Given the description of an element on the screen output the (x, y) to click on. 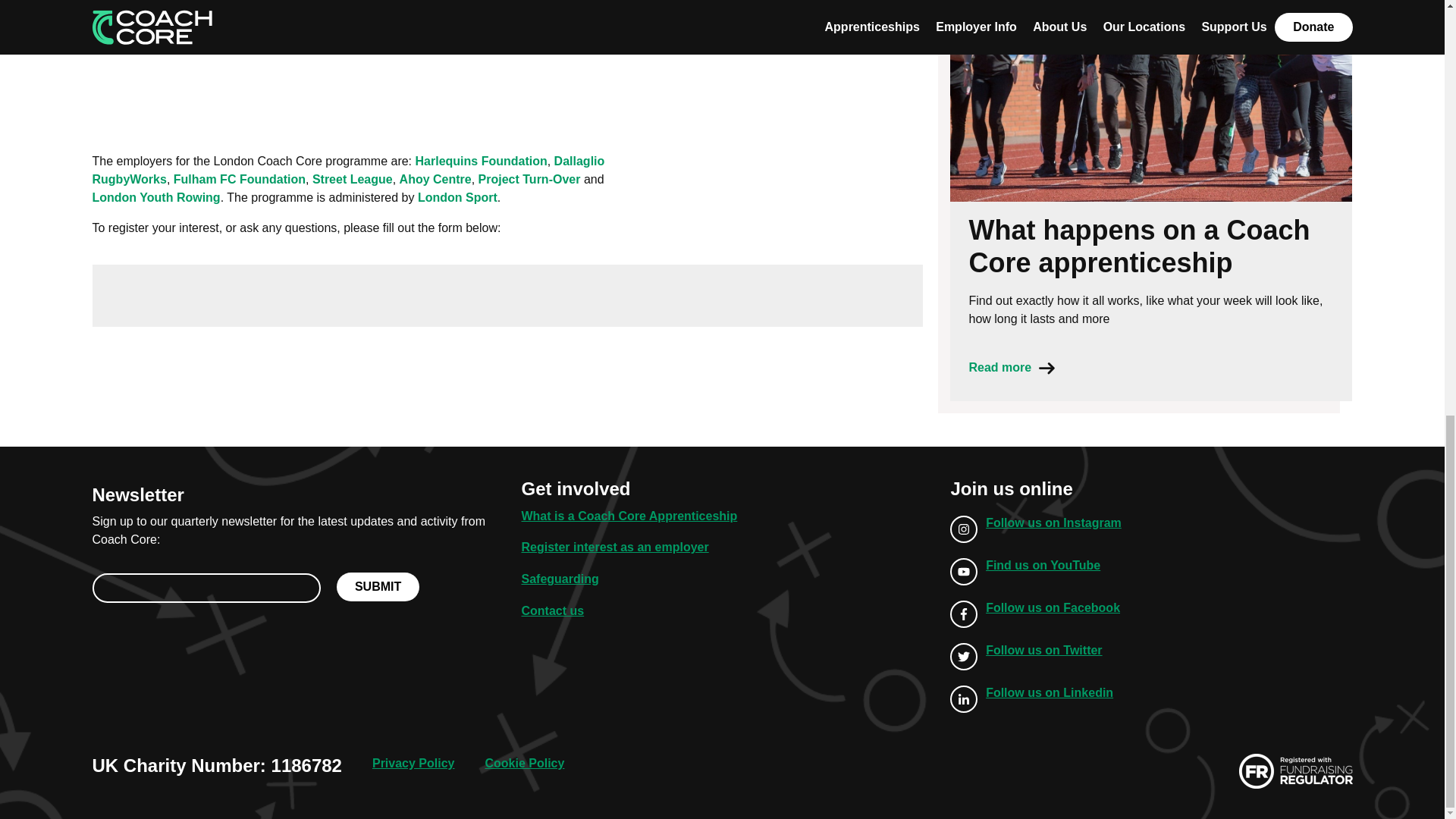
Follow us on Instagram (1035, 529)
Contact us (552, 610)
Privacy Policy (413, 762)
Five years of Coach Core Graduates (508, 62)
Harlequins Foundation (480, 160)
London Sport (457, 196)
Dallaglio RugbyWorks (349, 169)
Follow us on Linkedin (1035, 698)
Ahoy Centre (434, 178)
Safeguarding (559, 578)
